Given the description of an element on the screen output the (x, y) to click on. 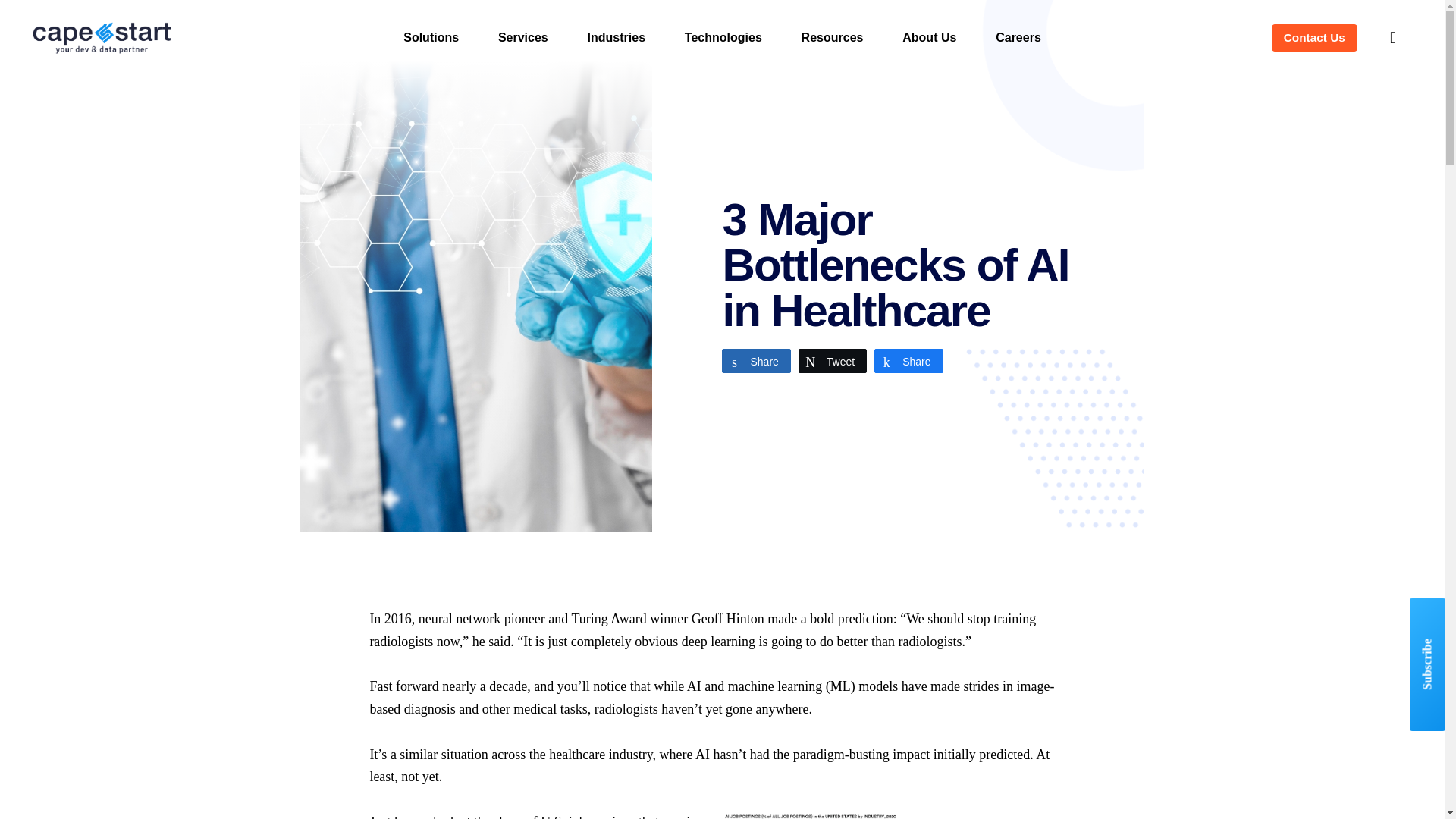
Industries (616, 37)
Solutions (431, 37)
Services (523, 37)
